Given the description of an element on the screen output the (x, y) to click on. 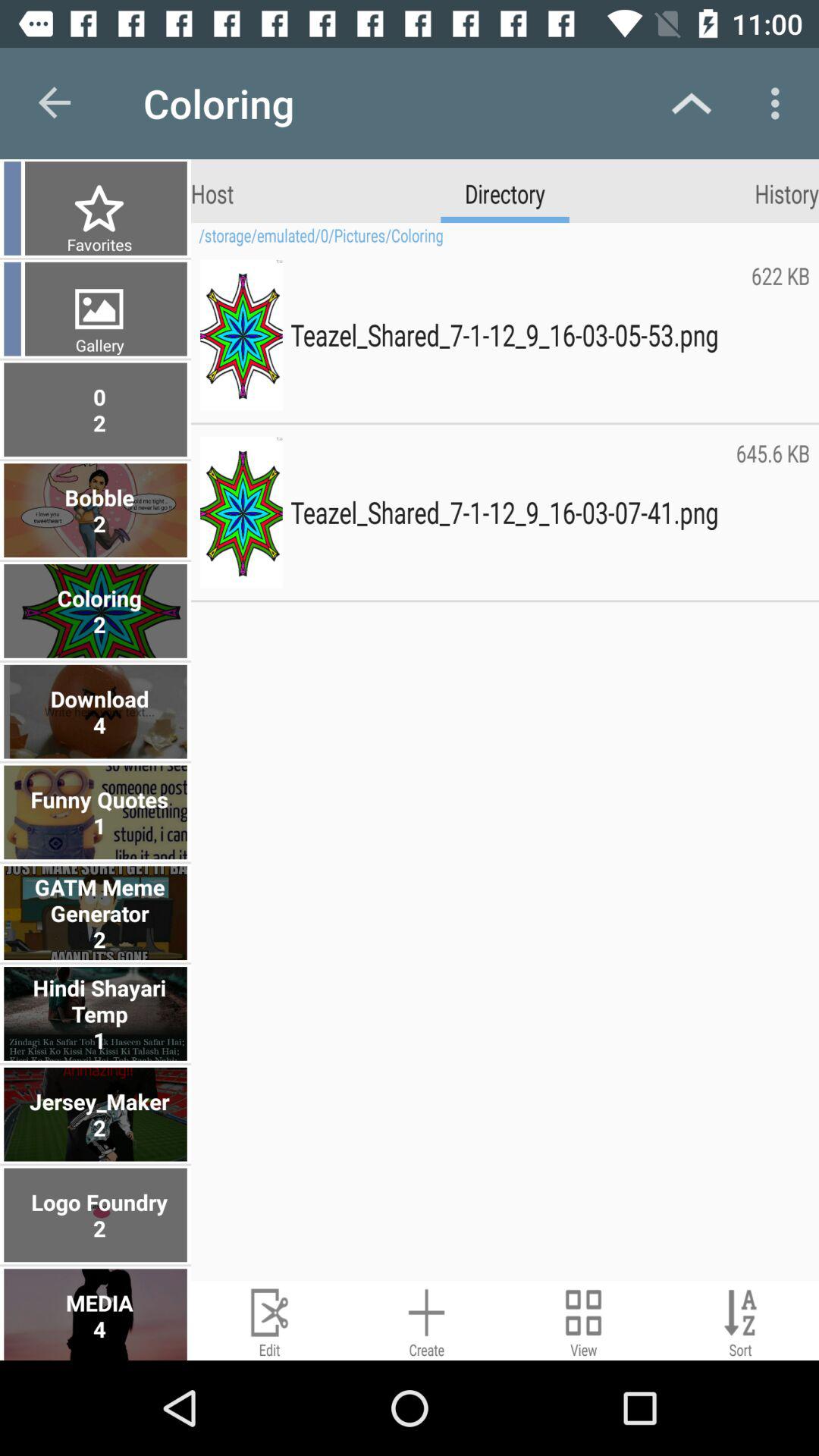
select the logo foundry
2 (97, 1215)
